Given the description of an element on the screen output the (x, y) to click on. 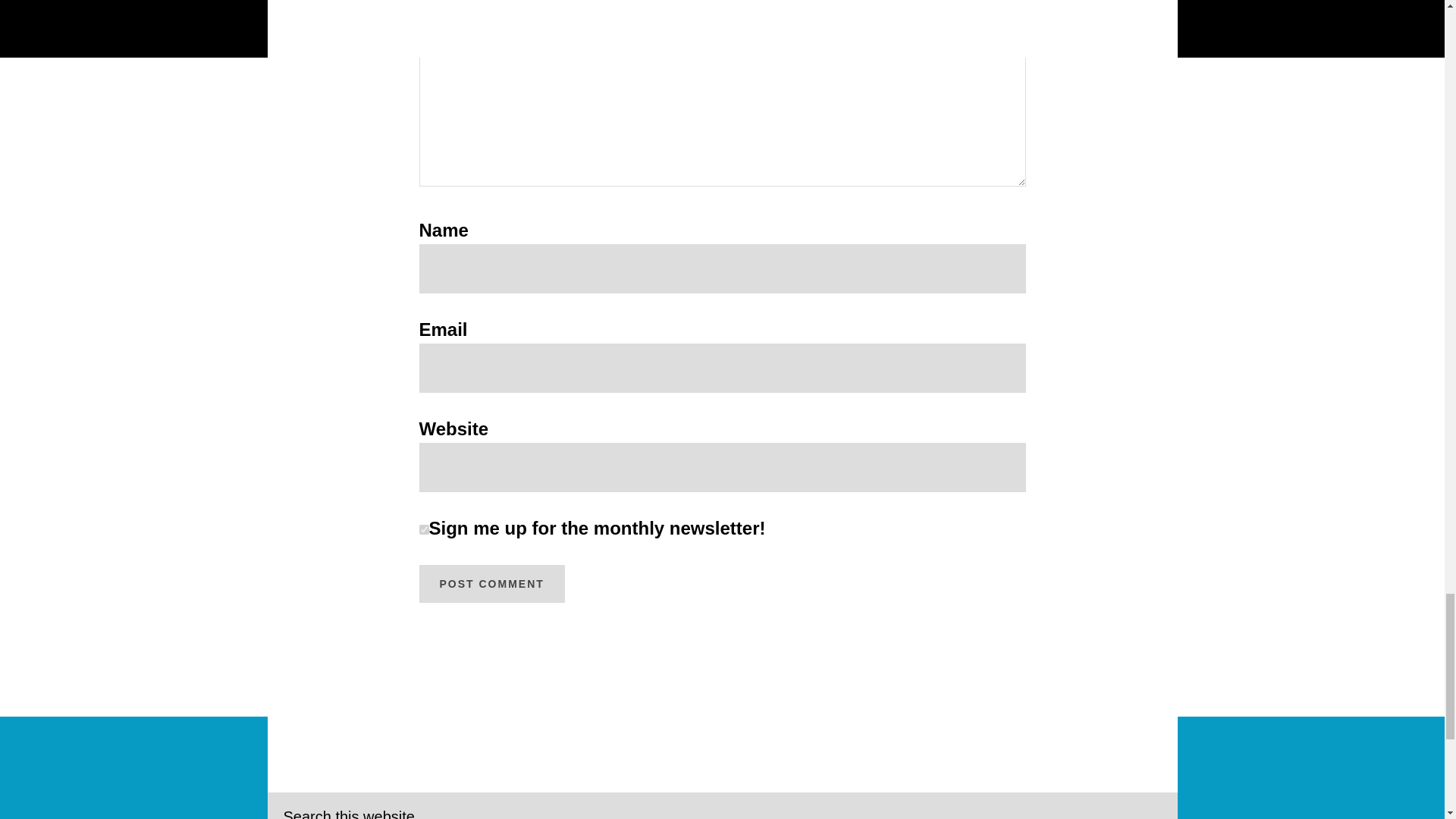
Post Comment (491, 583)
1 (423, 529)
Post Comment (491, 583)
